Given the description of an element on the screen output the (x, y) to click on. 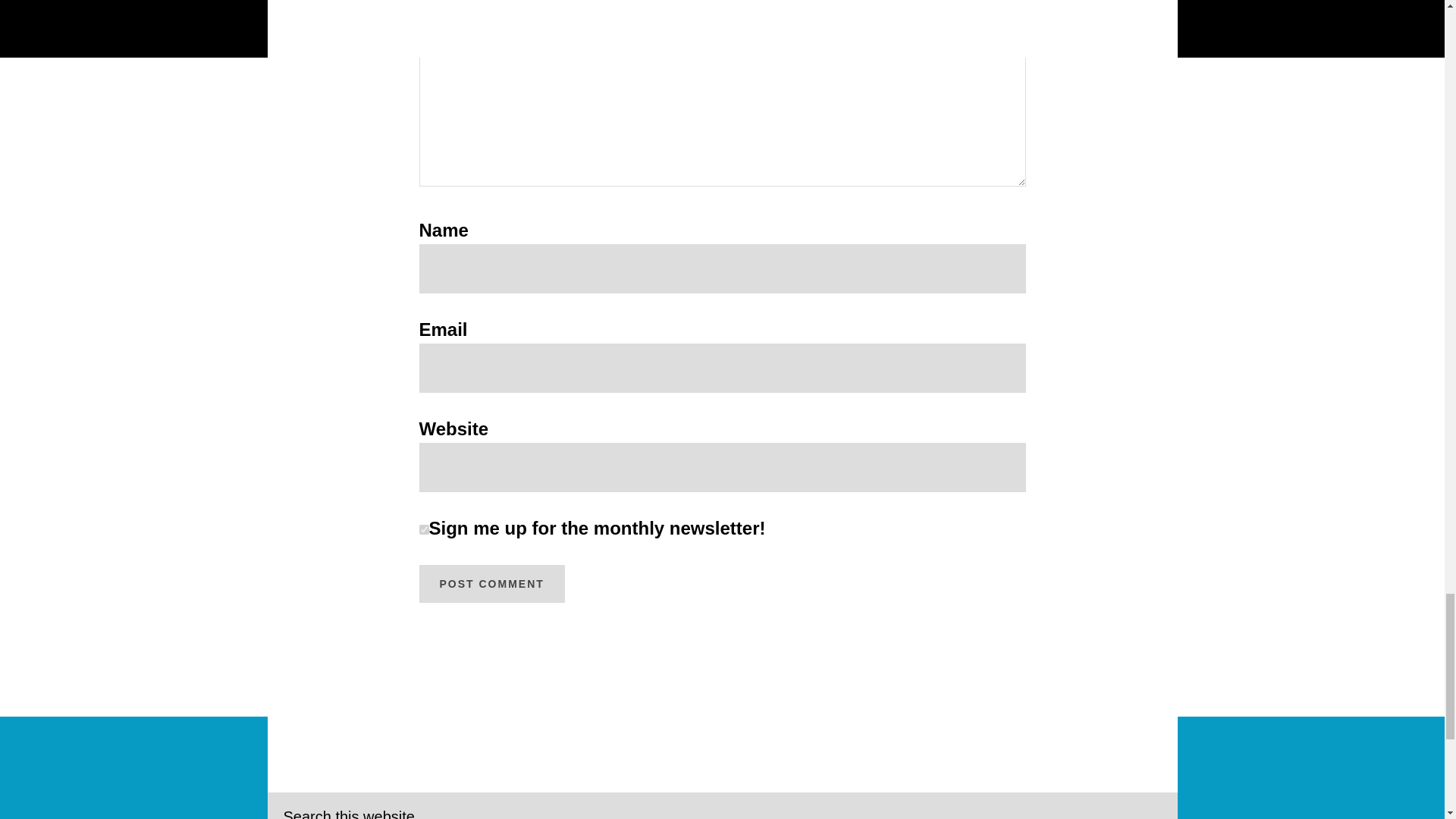
Post Comment (491, 583)
1 (423, 529)
Post Comment (491, 583)
